Given the description of an element on the screen output the (x, y) to click on. 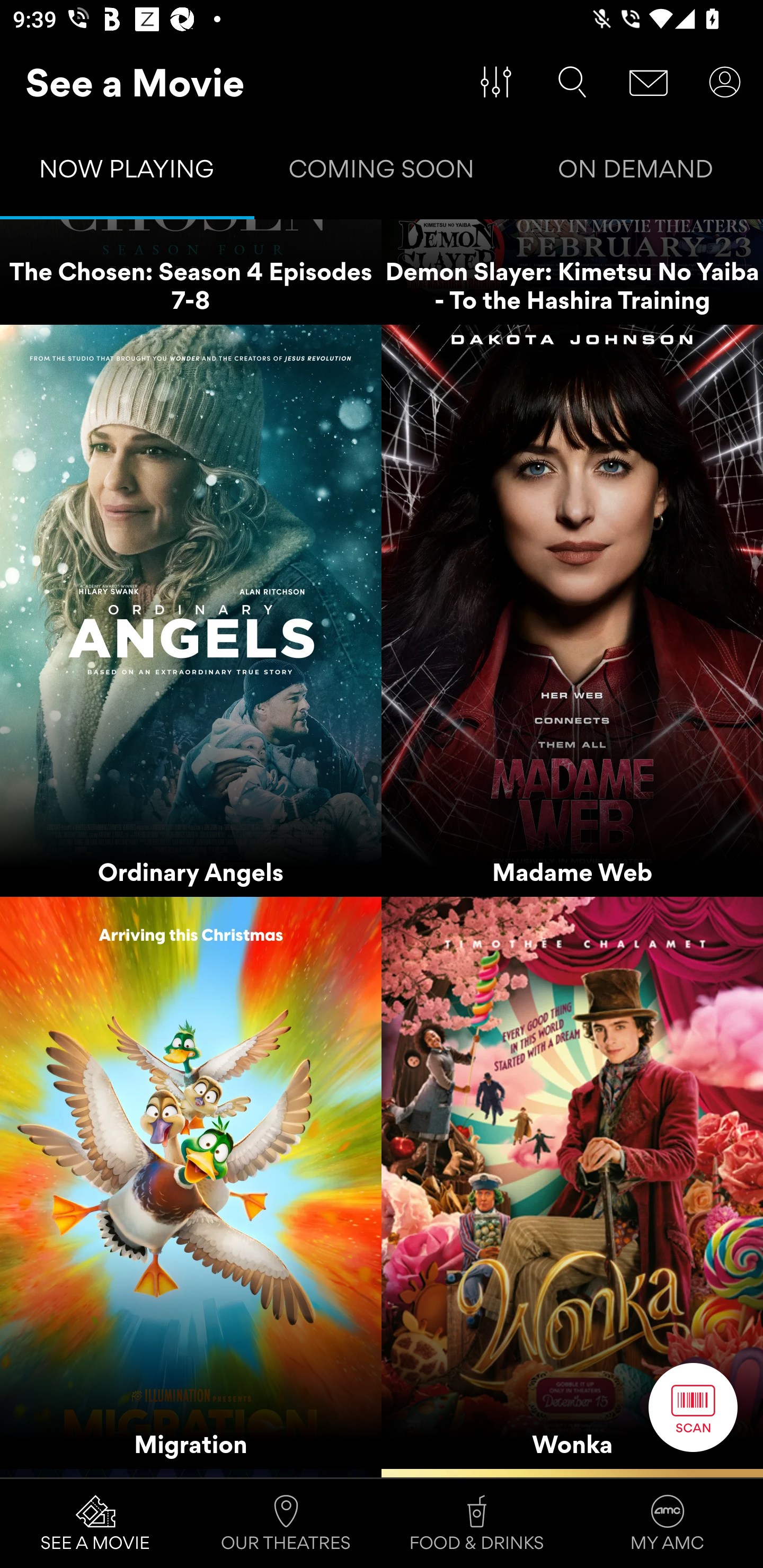
Filter Movies (495, 82)
Search (572, 82)
Message Center (648, 82)
User Account (724, 82)
NOW PLAYING
Tab 1 of 3 (127, 173)
COMING SOON
Tab 2 of 3 (381, 173)
ON DEMAND
Tab 3 of 3 (635, 173)
The Chosen: Season 4 Episodes 7-8 (190, 271)
Ordinary Angels (190, 610)
Madame Web (572, 610)
Migration (190, 1182)
Wonka (572, 1182)
Scan Button (692, 1406)
SEE A MOVIE
Tab 1 of 4 (95, 1523)
OUR THEATRES
Tab 2 of 4 (285, 1523)
FOOD & DRINKS
Tab 3 of 4 (476, 1523)
MY AMC
Tab 4 of 4 (667, 1523)
